Given the description of an element on the screen output the (x, y) to click on. 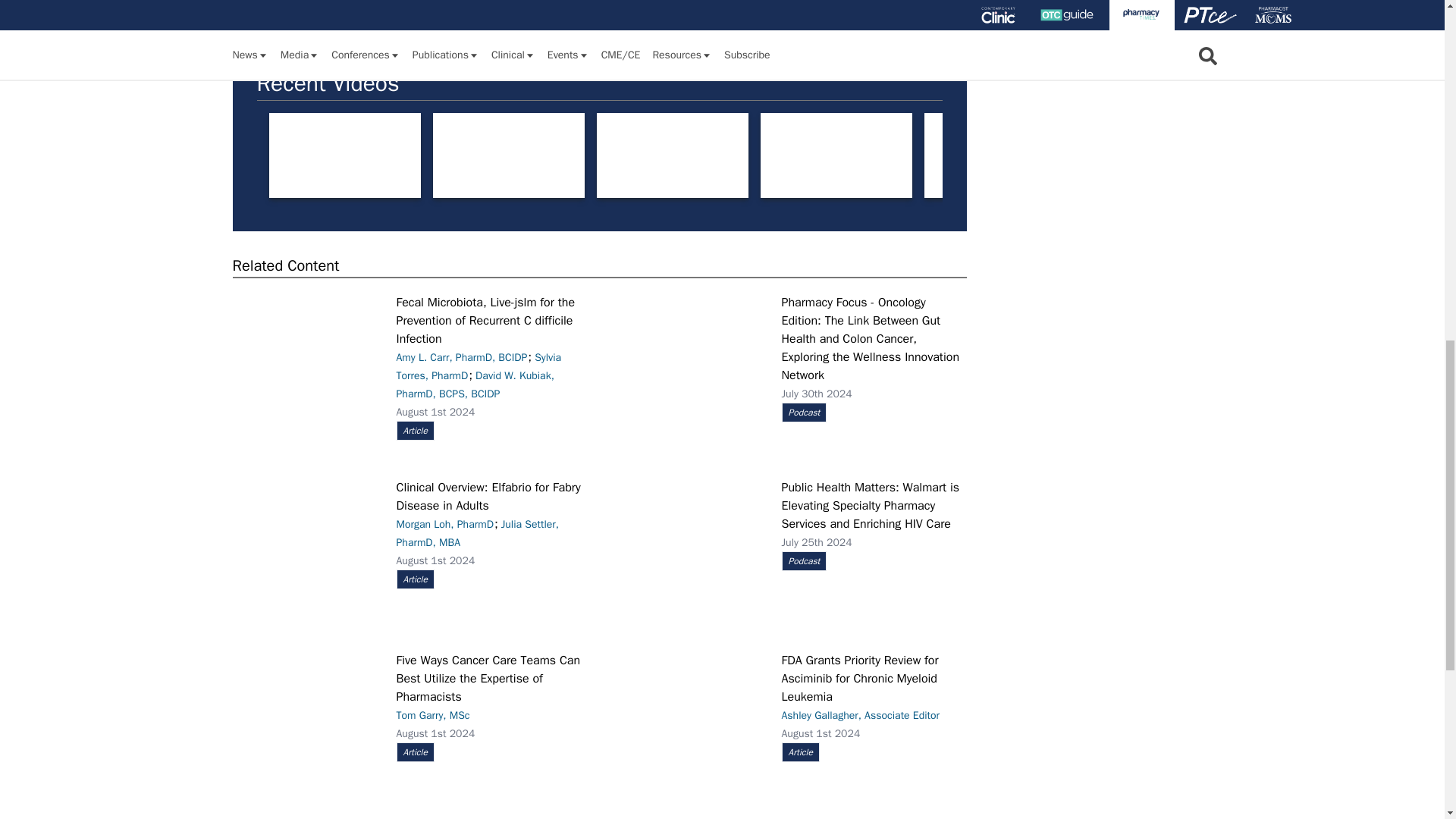
Cherokee Layson-Wolf, PharmD, BCACP, FAPhA, an expert on RSV (1326, 156)
Cherokee Layson-Wolf, PharmD, BCACP, FAPhA, an expert on RSV (1163, 156)
